Given the description of an element on the screen output the (x, y) to click on. 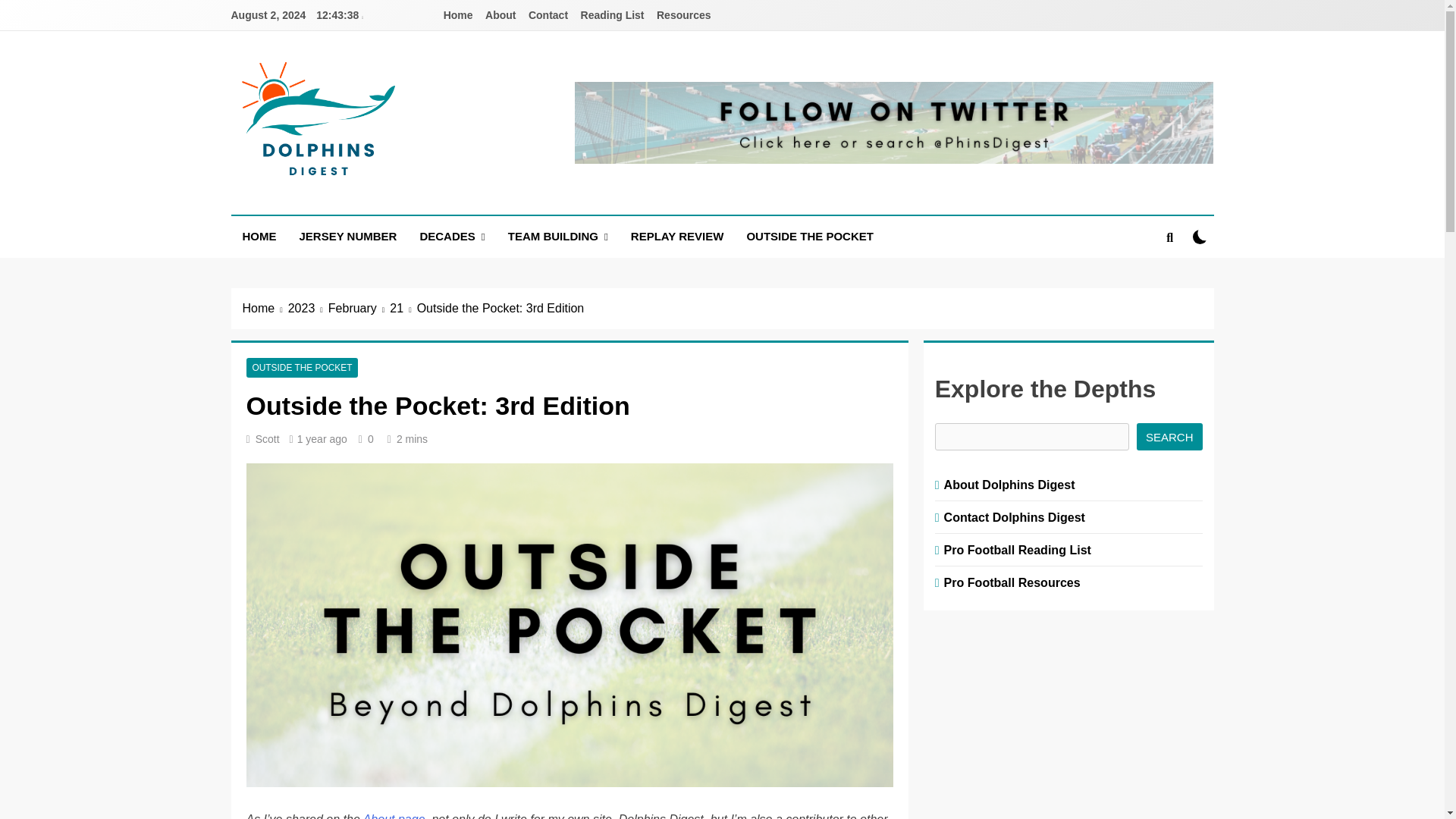
1 year ago (322, 439)
JERSEY NUMBER (348, 236)
2023 (308, 308)
TEAM BUILDING (558, 236)
Scott (267, 439)
DECADES (451, 236)
Reading List (612, 15)
Contact (548, 15)
21 (403, 308)
HOME (258, 236)
OUTSIDE THE POCKET (301, 367)
About page (393, 816)
on (1199, 237)
Home (265, 308)
Resources (684, 15)
